Given the description of an element on the screen output the (x, y) to click on. 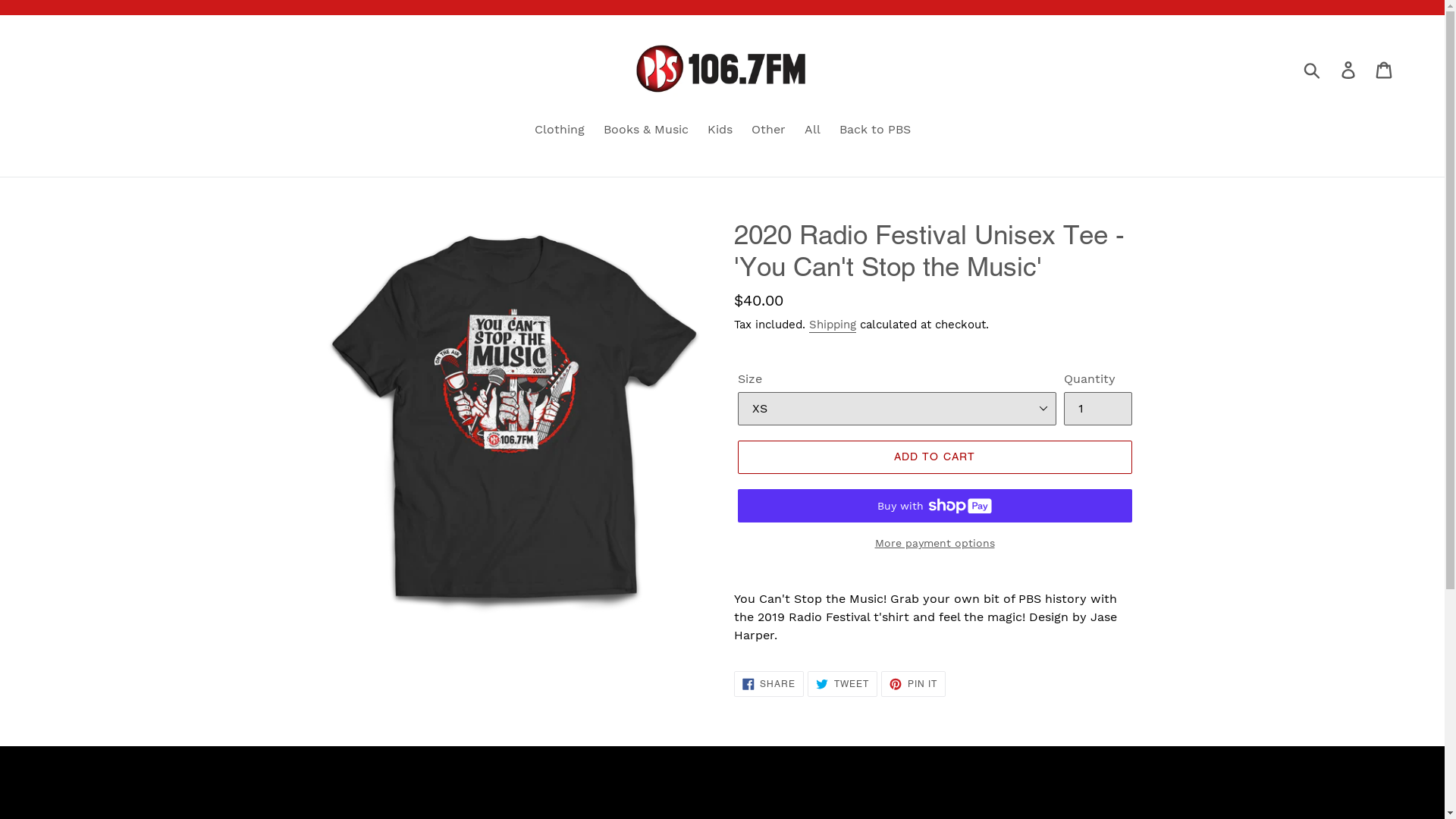
PIN IT
PIN ON PINTEREST Element type: text (913, 683)
Submit Element type: text (1312, 69)
Books & Music Element type: text (646, 130)
Clothing Element type: text (558, 130)
Shipping Element type: text (831, 324)
Other Element type: text (767, 130)
Kids Element type: text (719, 130)
Back to PBS Element type: text (874, 130)
Log in Element type: text (1349, 70)
ADD TO CART Element type: text (934, 456)
All Element type: text (811, 130)
Cart Element type: text (1384, 70)
More payment options Element type: text (934, 543)
TWEET
TWEET ON TWITTER Element type: text (842, 683)
SHARE
SHARE ON FACEBOOK Element type: text (769, 683)
